Given the description of an element on the screen output the (x, y) to click on. 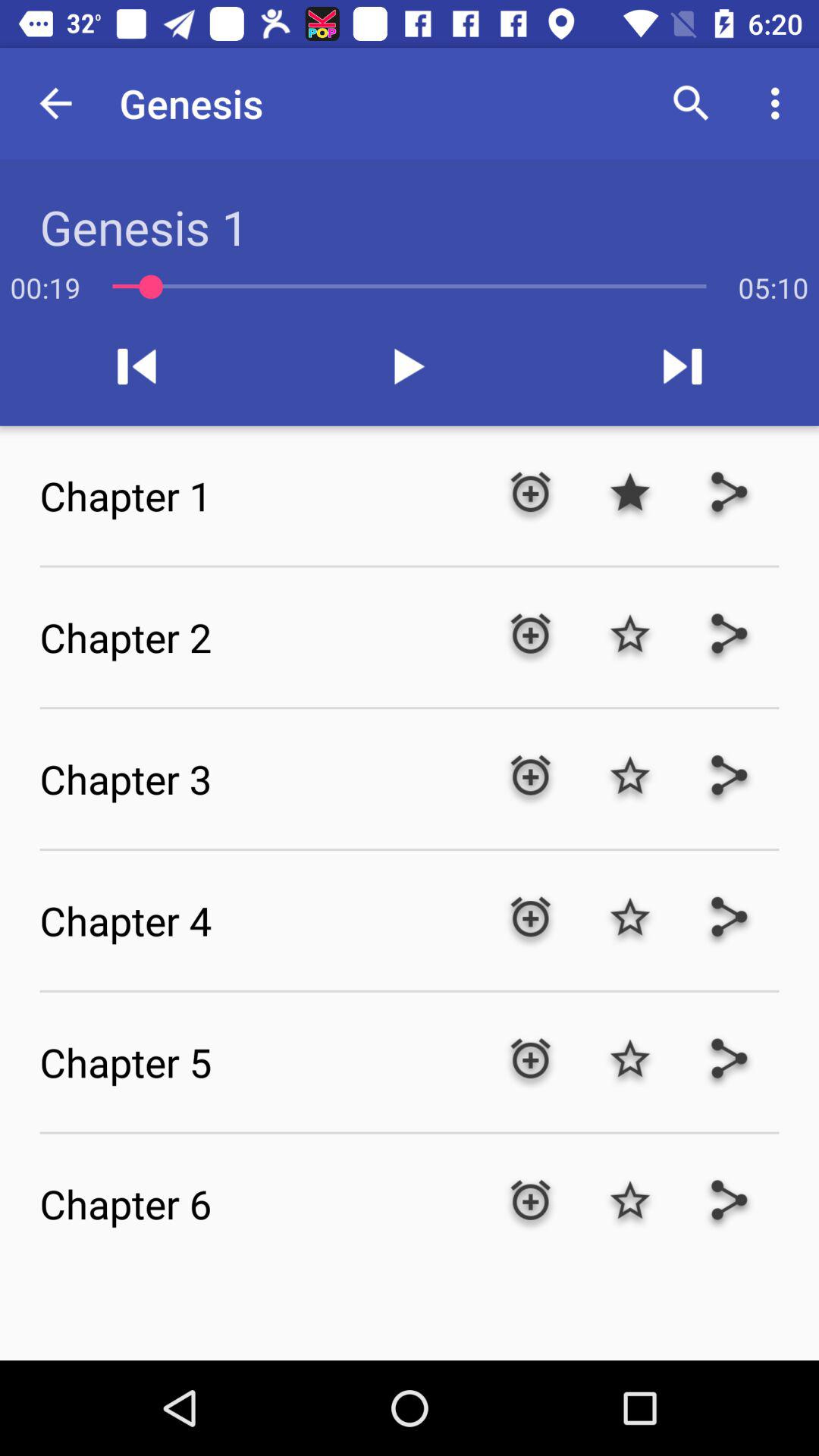
open item above genesis 1 (55, 103)
